Given the description of an element on the screen output the (x, y) to click on. 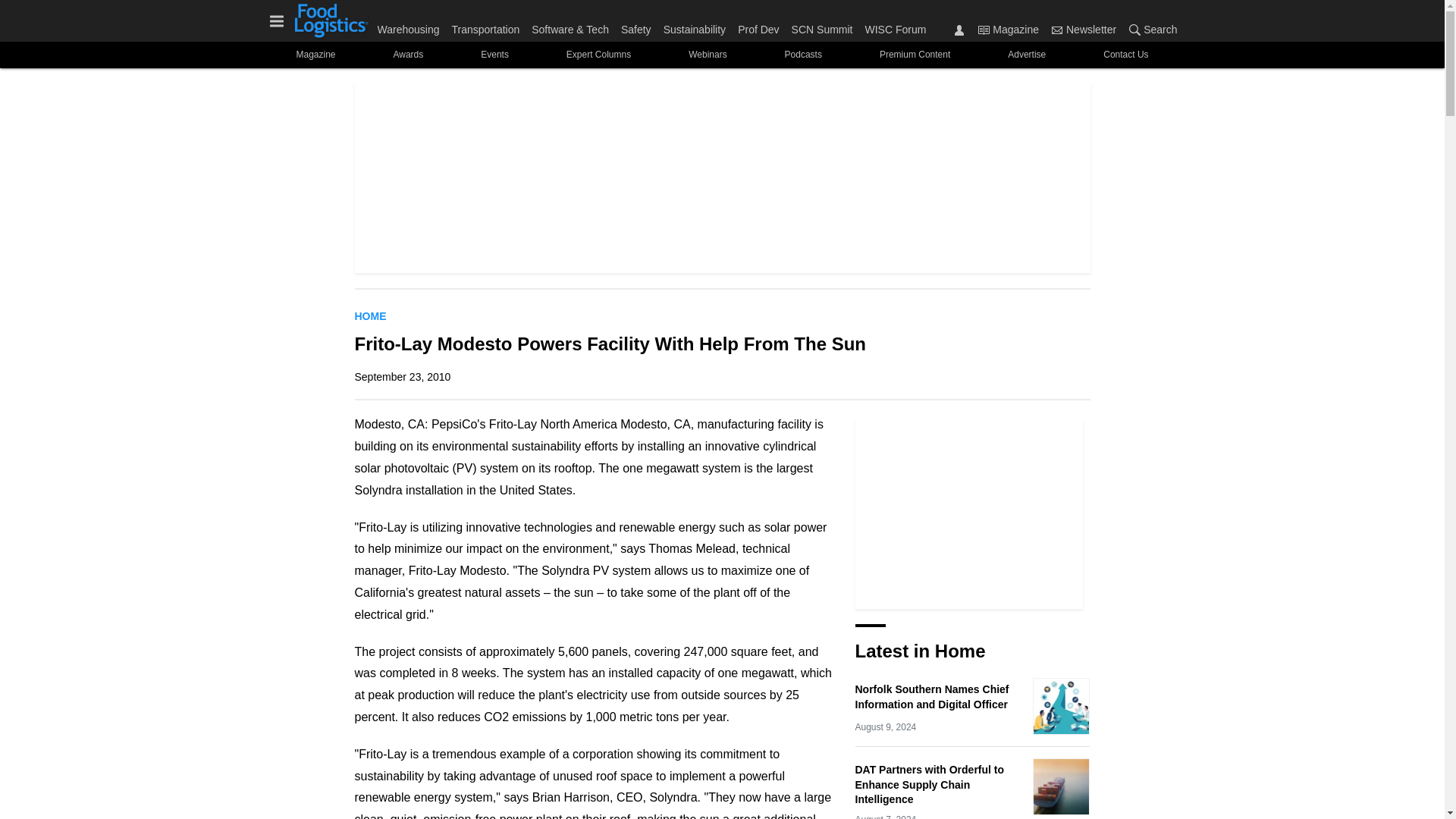
Contact Us (1125, 54)
Search (1134, 29)
Search (1149, 29)
Newsletter (1056, 29)
Prof Dev (758, 26)
Podcasts (802, 54)
Sign In (959, 29)
Magazine (983, 29)
Magazine (315, 54)
